Given the description of an element on the screen output the (x, y) to click on. 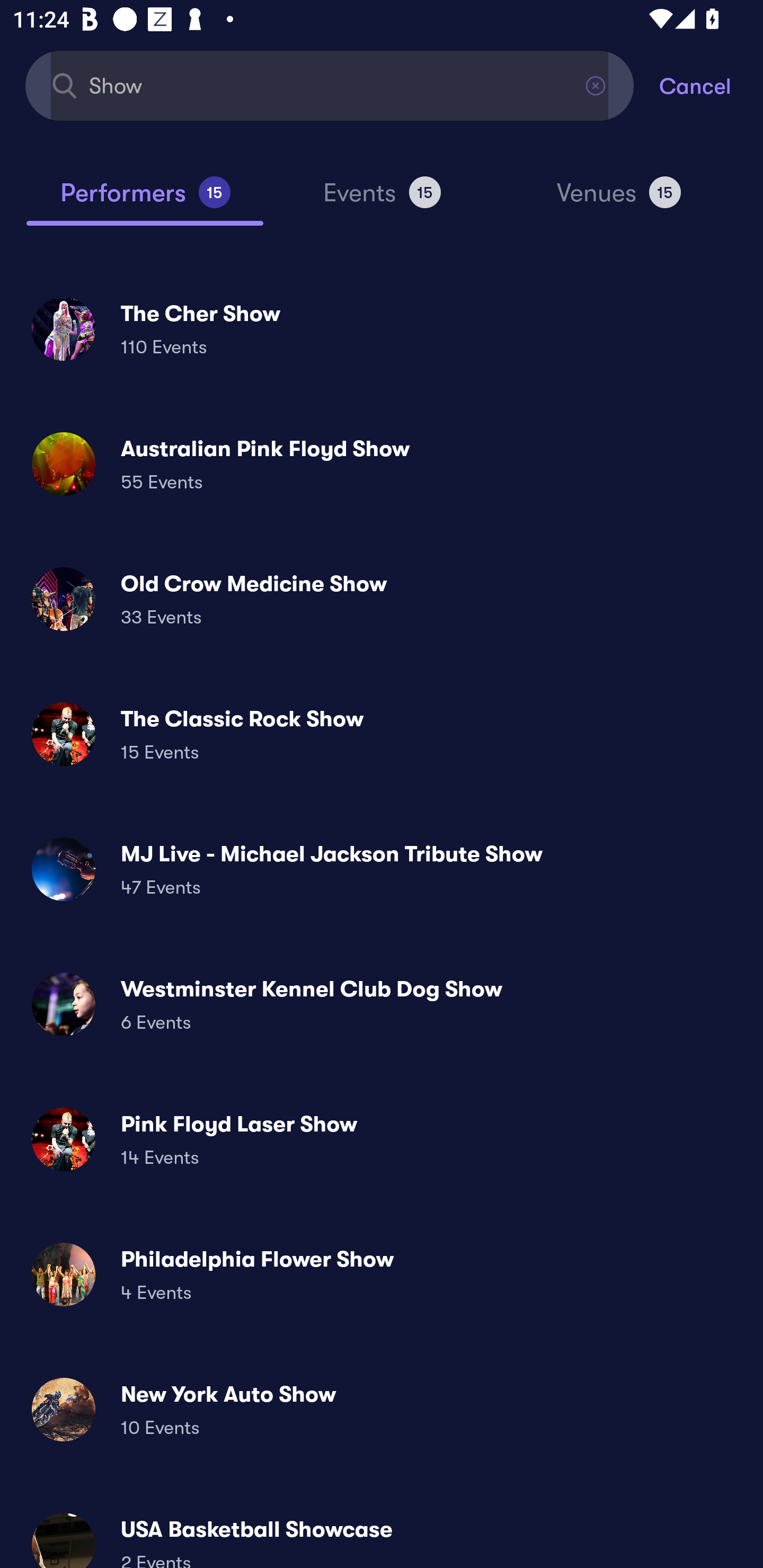
Show Find (329, 85)
Show Find (329, 85)
Cancel (711, 85)
Performers 15 (144, 200)
Events 15 (381, 200)
Venues 15 (618, 200)
The Cher Show 110 Events (381, 328)
Australian Pink Floyd Show 55 Events (381, 464)
Old Crow Medicine Show 33 Events (381, 598)
The Classic Rock Show 15 Events (381, 734)
MJ Live - Michael Jackson Tribute Show 47 Events (381, 869)
Westminster Kennel Club Dog Show 6 Events (381, 1004)
Pink Floyd Laser Show 14 Events (381, 1138)
Philadelphia Flower Show 4 Events (381, 1273)
New York Auto Show 10 Events (381, 1409)
USA Basketball Showcase 2 Events (381, 1532)
